Given the description of an element on the screen output the (x, y) to click on. 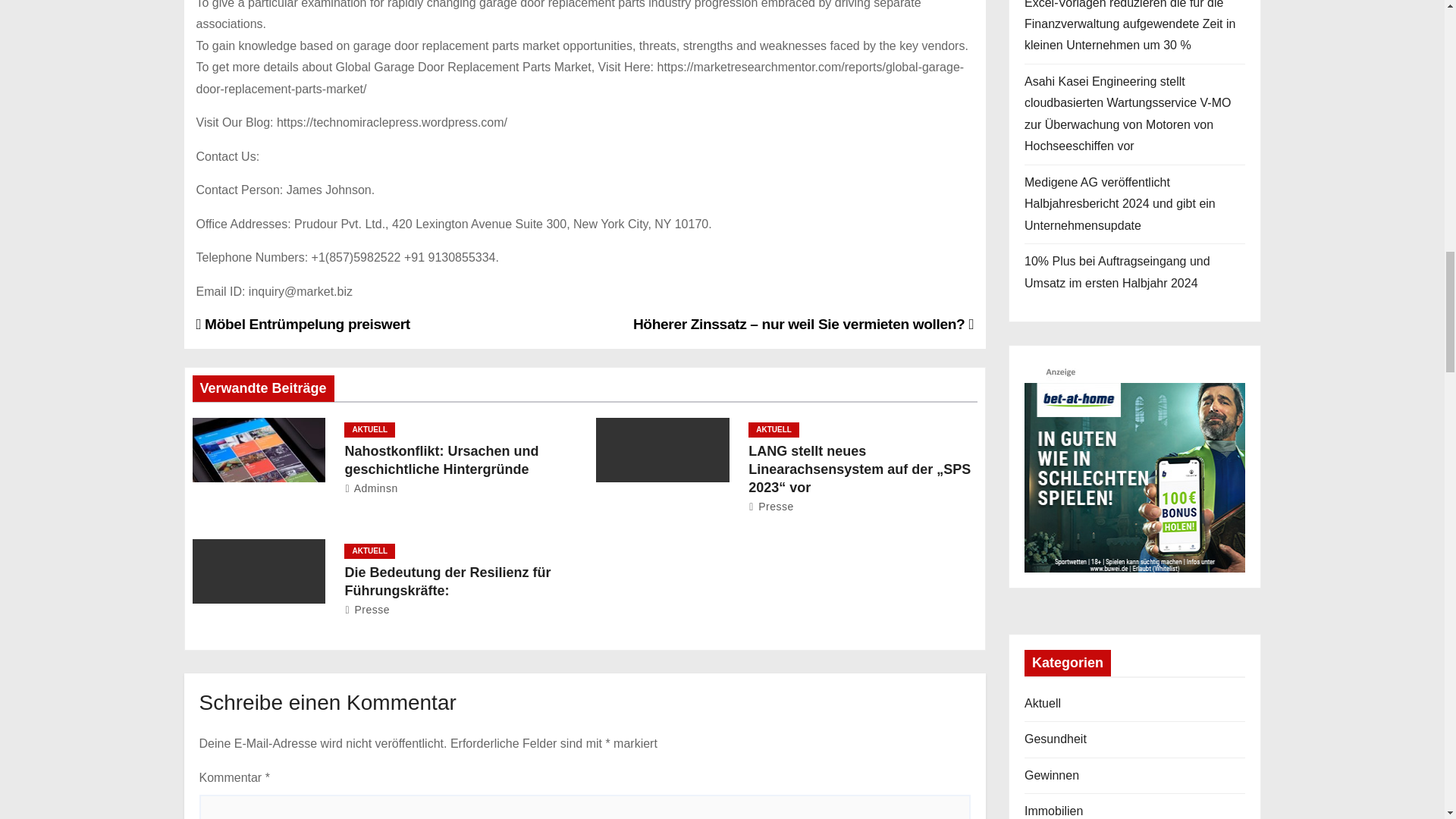
Adminsn (370, 488)
AKTUELL (368, 550)
AKTUELL (368, 429)
Presse (770, 506)
AKTUELL (773, 429)
